Given the description of an element on the screen output the (x, y) to click on. 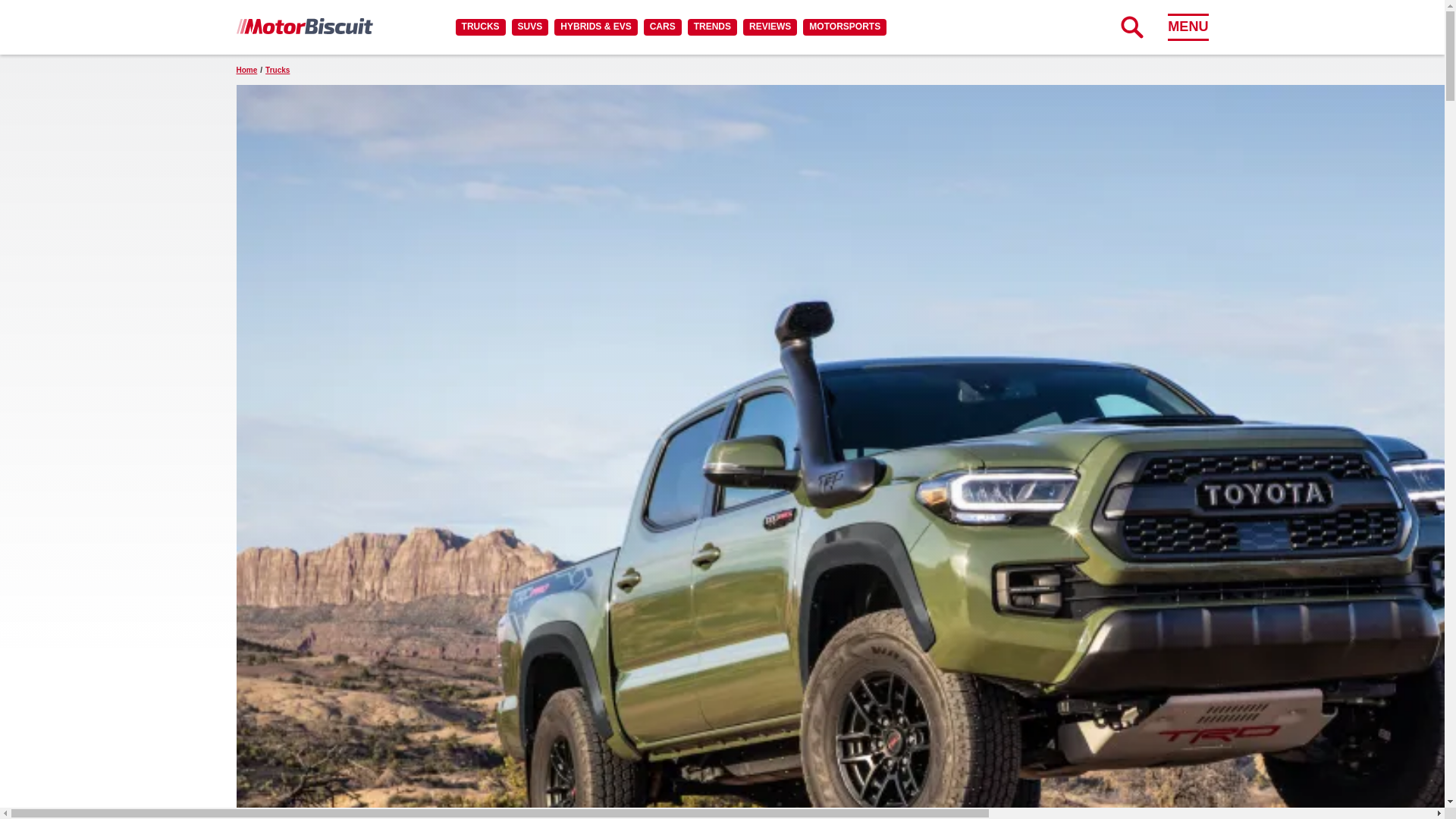
CARS (662, 26)
TRUCKS (480, 26)
REVIEWS (769, 26)
SUVS (530, 26)
TRENDS (711, 26)
MOTORSPORTS (844, 26)
Expand Search (1131, 26)
MENU (1187, 26)
MotorBiscuit (303, 26)
